Given the description of an element on the screen output the (x, y) to click on. 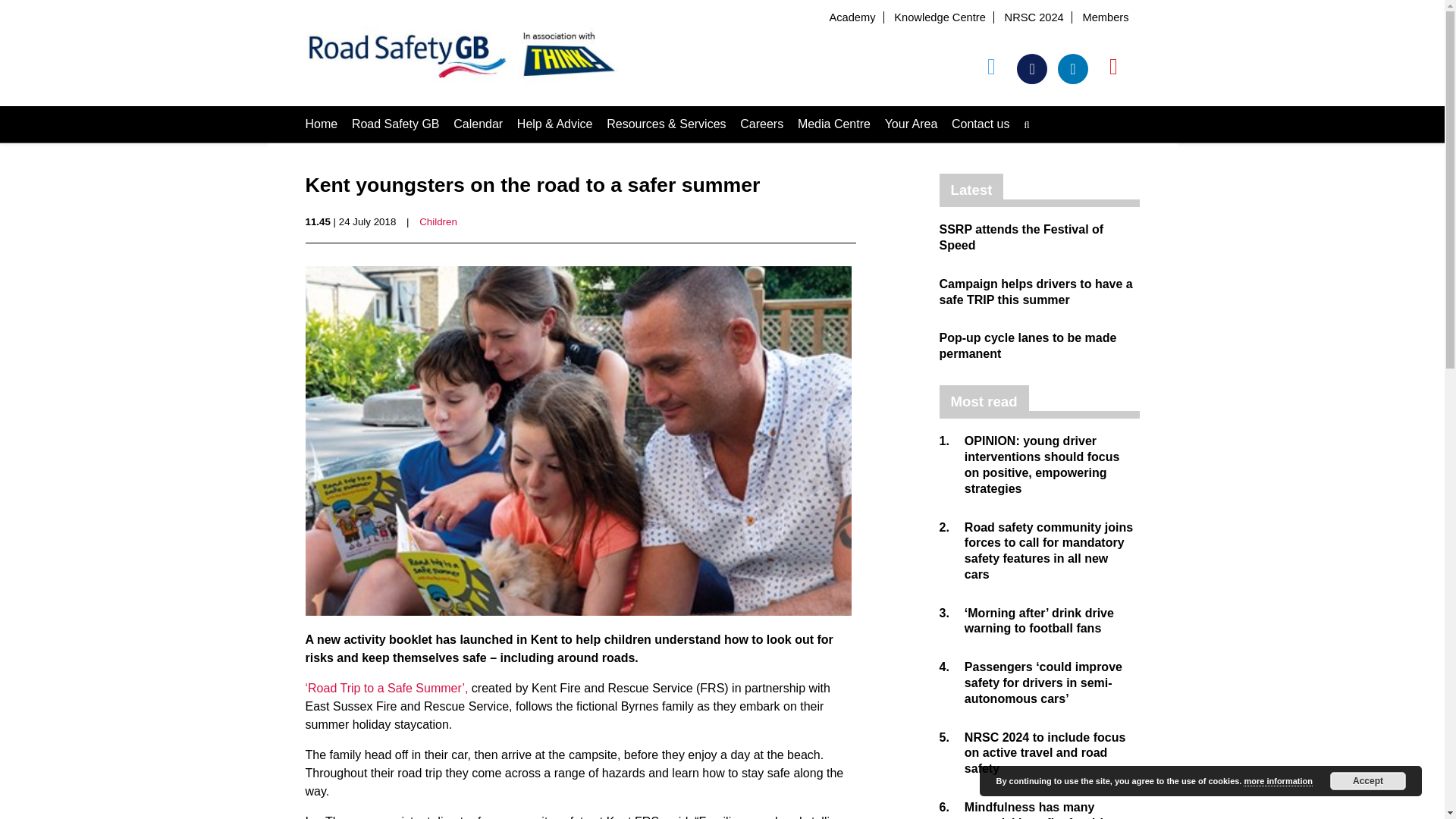
Road Safety GB (395, 123)
Media Centre (833, 123)
Knowledge Centre (939, 17)
Campaign helps drivers to have a safe TRIP this summer (1035, 291)
Your Area (911, 123)
Calendar (477, 123)
Home (320, 123)
NRSC 2024 (1034, 17)
SSRP attends the Festival of Speed (1021, 236)
Pop-up cycle lanes to be made permanent (1027, 345)
Careers (761, 123)
Academy (851, 17)
Members (1104, 17)
